Given the description of an element on the screen output the (x, y) to click on. 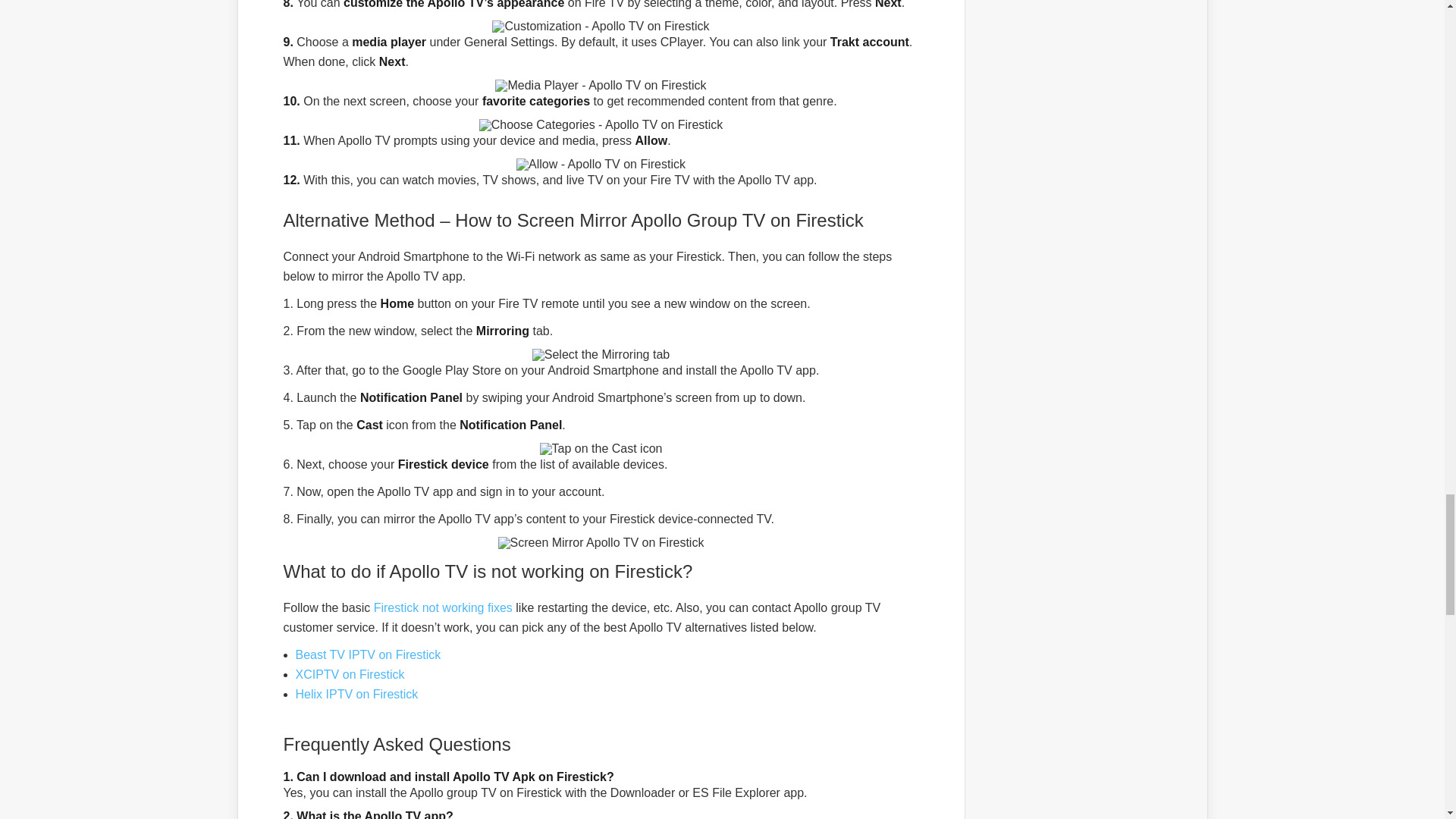
Firestick not working fixes (443, 607)
XCIPTV on Firestick (349, 674)
Beast TV IPTV on Firestick (368, 654)
Helix IPTV on Firestick (357, 694)
